Given the description of an element on the screen output the (x, y) to click on. 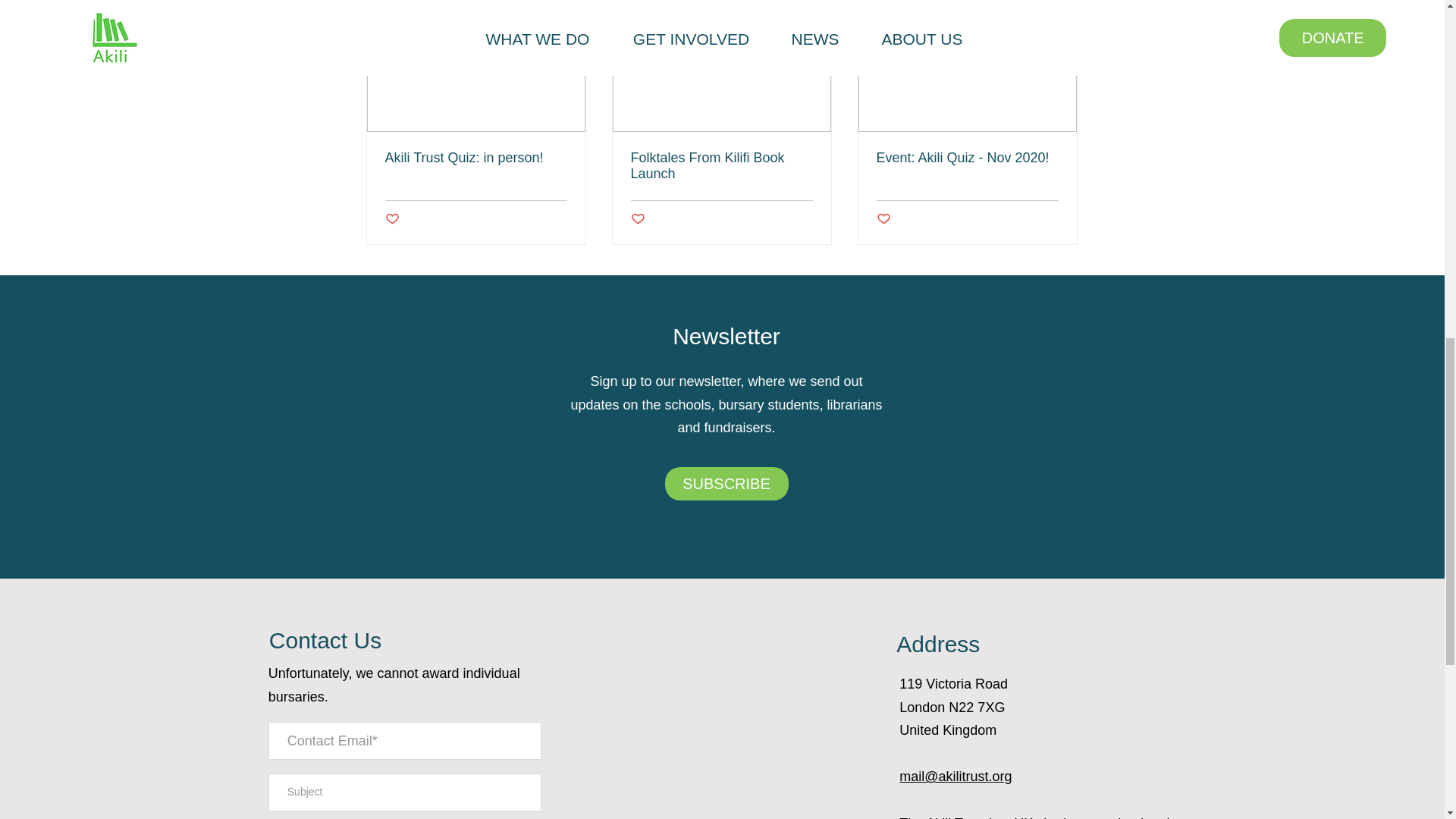
Post not marked as liked (637, 218)
Folktales From Kilifi Book Launch (721, 165)
Akili Trust Quiz: in person! (476, 157)
Post not marked as liked (391, 218)
